Given the description of an element on the screen output the (x, y) to click on. 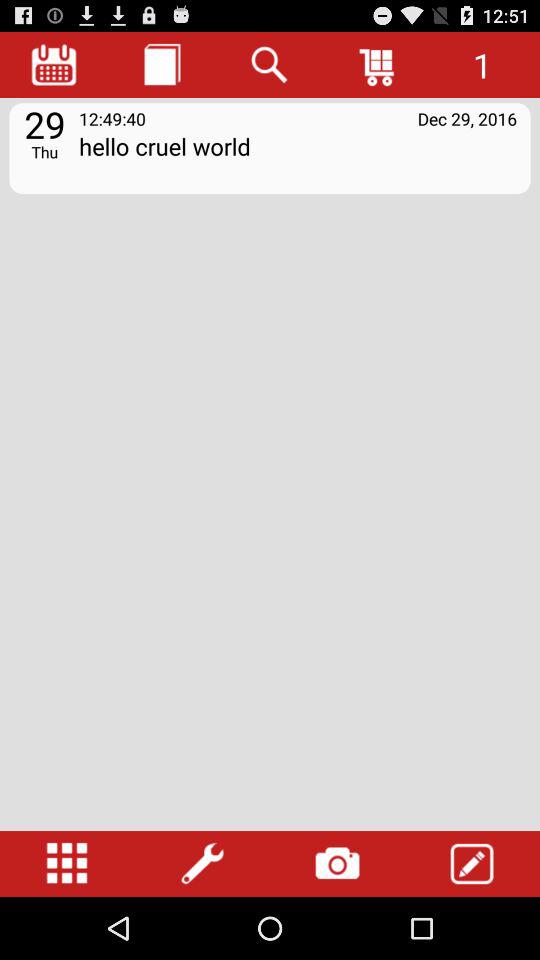
search (270, 64)
